Given the description of an element on the screen output the (x, y) to click on. 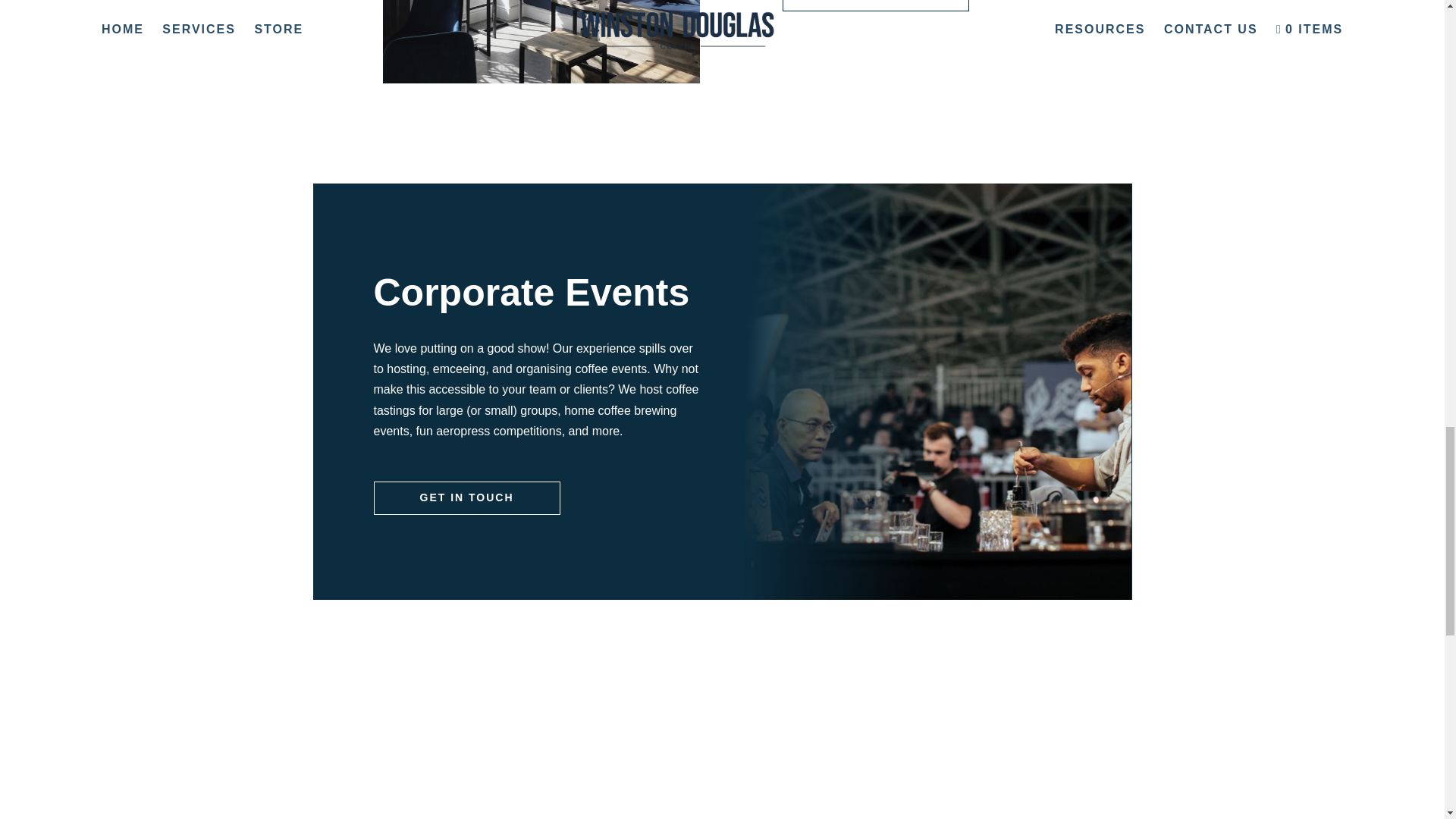
GET IN TOUCH (876, 5)
GET IN TOUCH (465, 498)
